Given the description of an element on the screen output the (x, y) to click on. 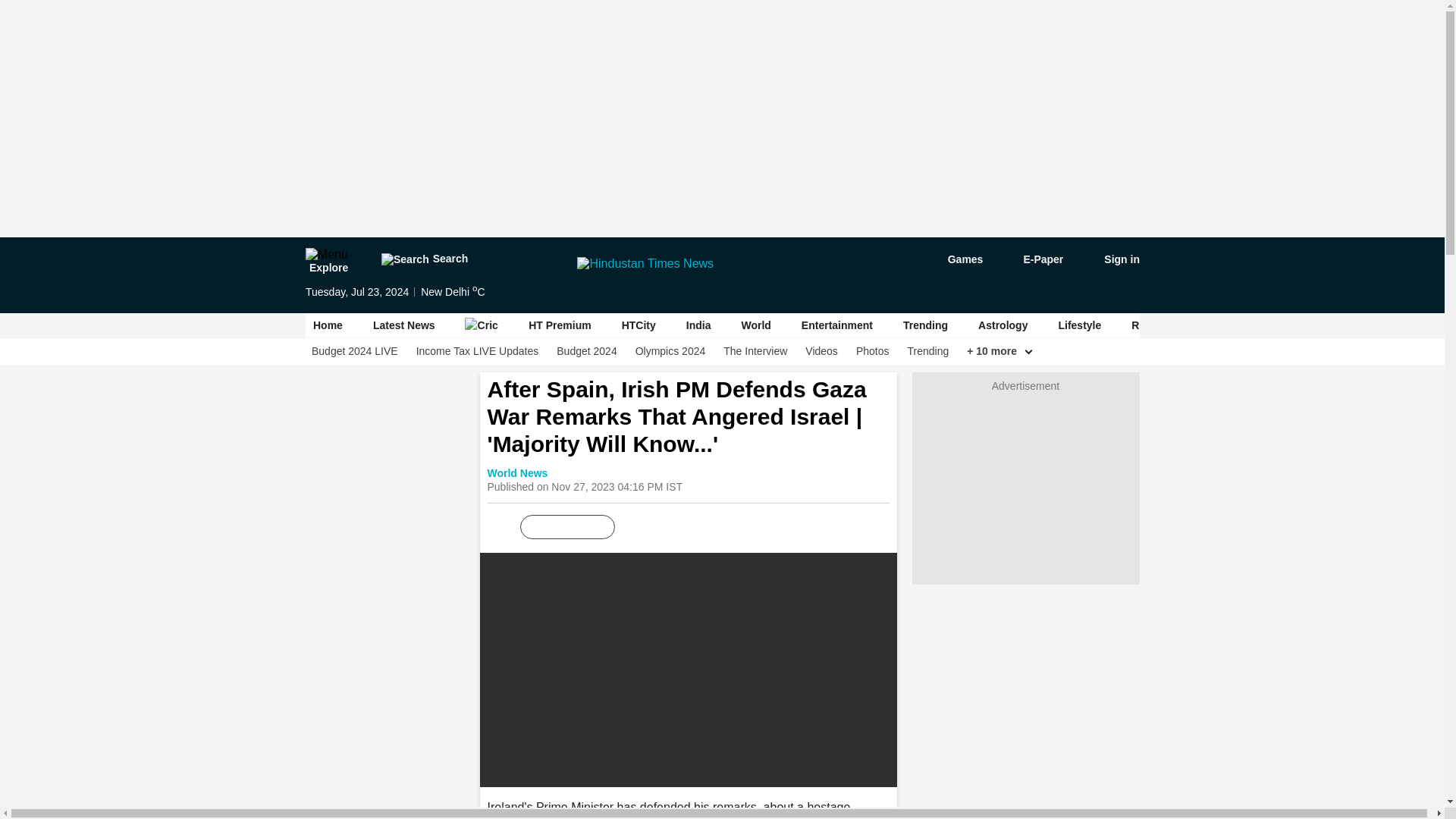
Videos (821, 350)
Olympics 2024 (669, 350)
World (755, 325)
Search (423, 258)
Trending (928, 350)
Share on Twitter (699, 526)
India (697, 325)
Entertainment (836, 325)
E-Paper (1034, 258)
Astrology (1002, 325)
Photos (872, 350)
The Interview (755, 350)
Shop Now (1384, 325)
Home (327, 325)
Lifestyle (1079, 325)
